Given the description of an element on the screen output the (x, y) to click on. 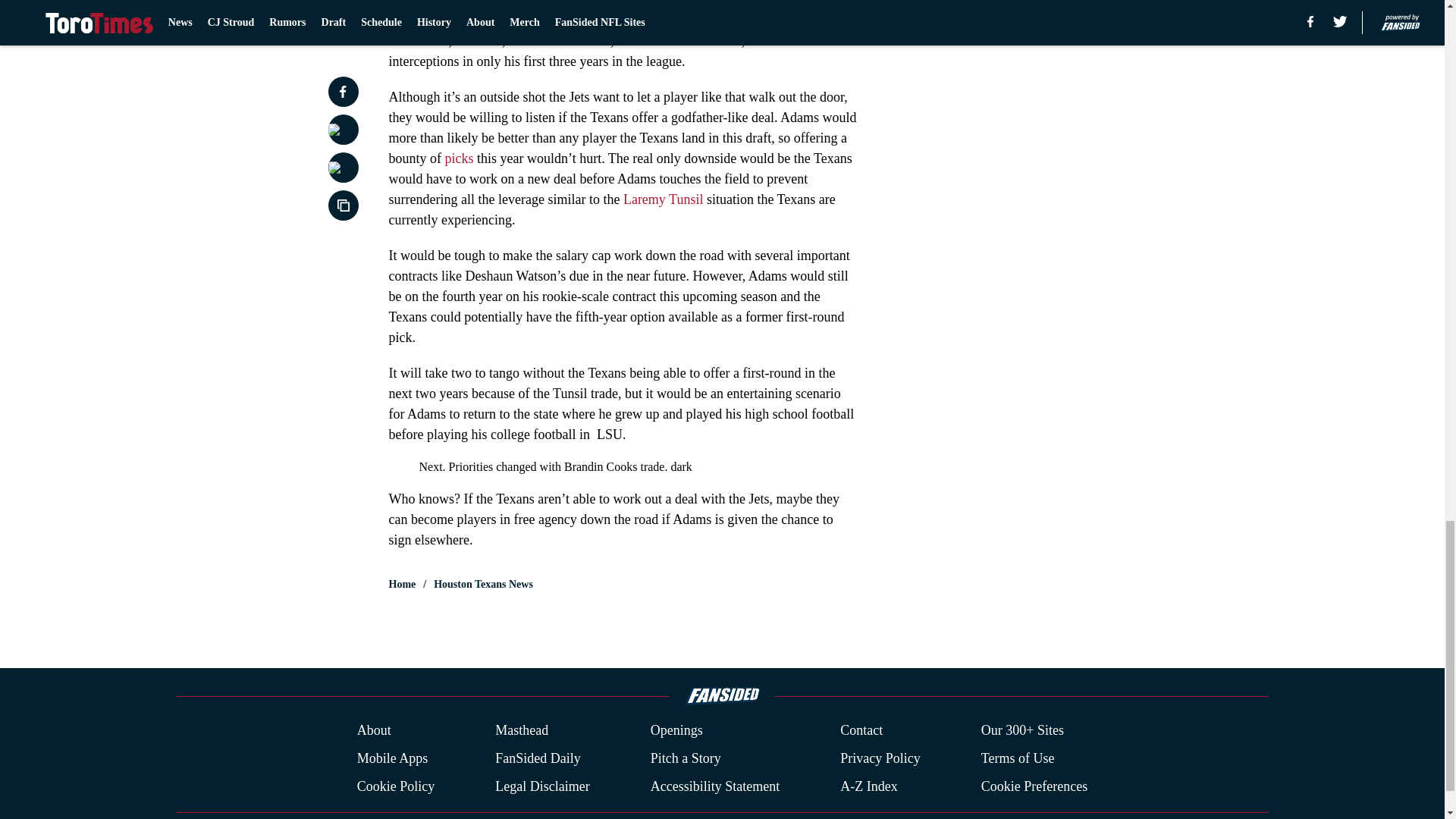
About (373, 730)
Cookie Policy (395, 786)
FanSided Daily (537, 758)
Privacy Policy (880, 758)
Masthead (521, 730)
picks (458, 158)
Legal Disclaimer (542, 786)
Pitch a Story (685, 758)
Laremy Tunsil (663, 199)
Mobile Apps (392, 758)
Home (401, 584)
Houston Texans News (482, 584)
Contact (861, 730)
Terms of Use (1017, 758)
Openings (676, 730)
